Given the description of an element on the screen output the (x, y) to click on. 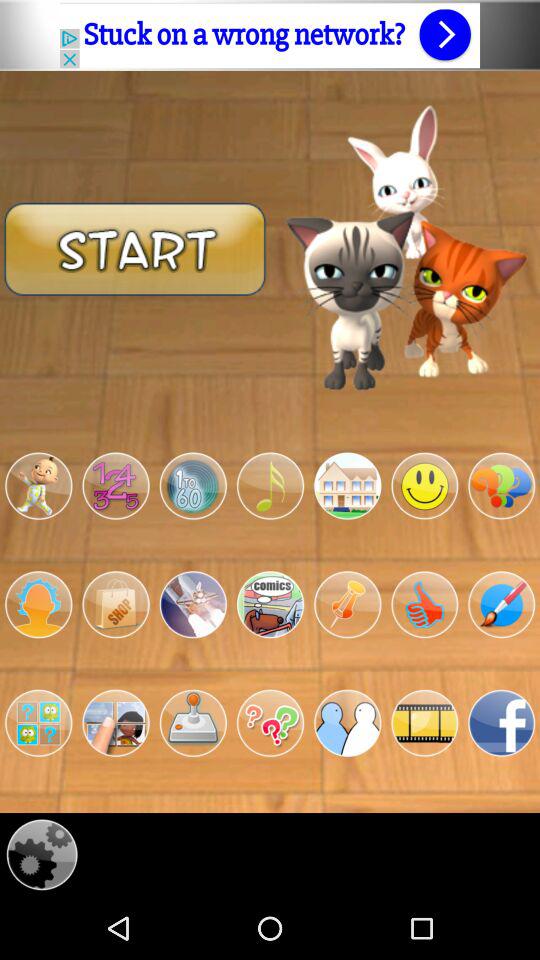
select comics (270, 604)
